Given the description of an element on the screen output the (x, y) to click on. 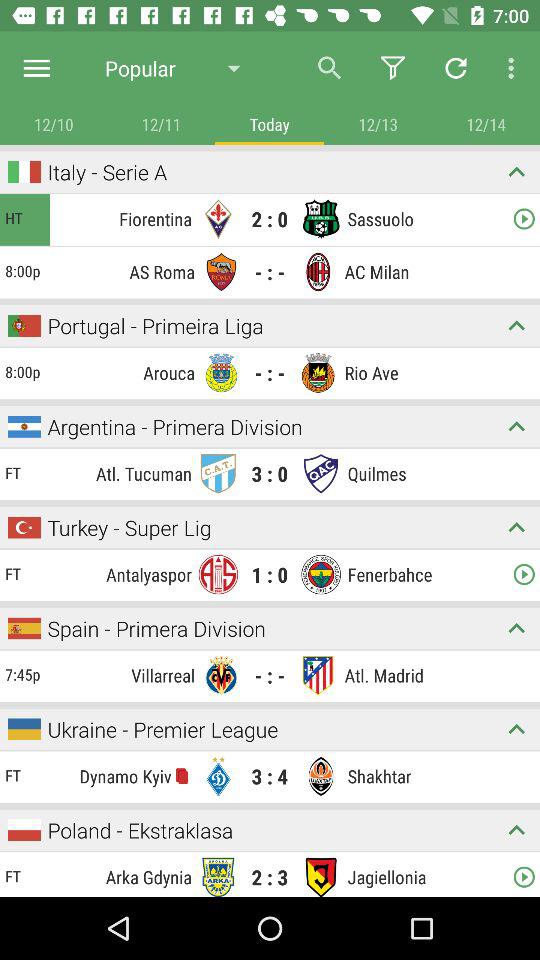
minimize this section (516, 829)
